Given the description of an element on the screen output the (x, y) to click on. 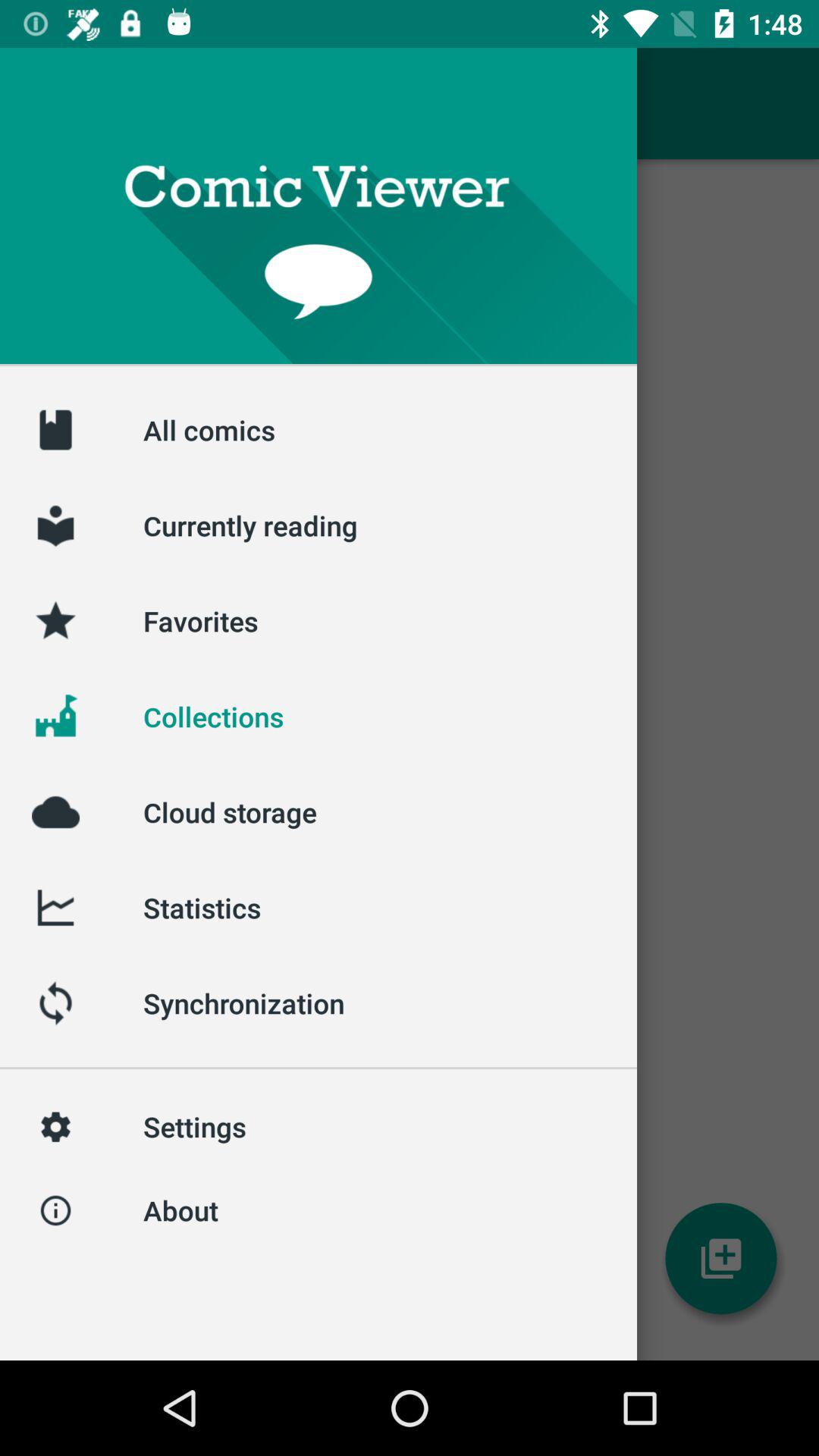
click on the recycle icon to the left of synchronization text (55, 1003)
select the icon which is left to text all comics (55, 429)
select the icon which is above cloud storage (55, 716)
click on the icon which is at the bottom right of the page (721, 1259)
